Given the description of an element on the screen output the (x, y) to click on. 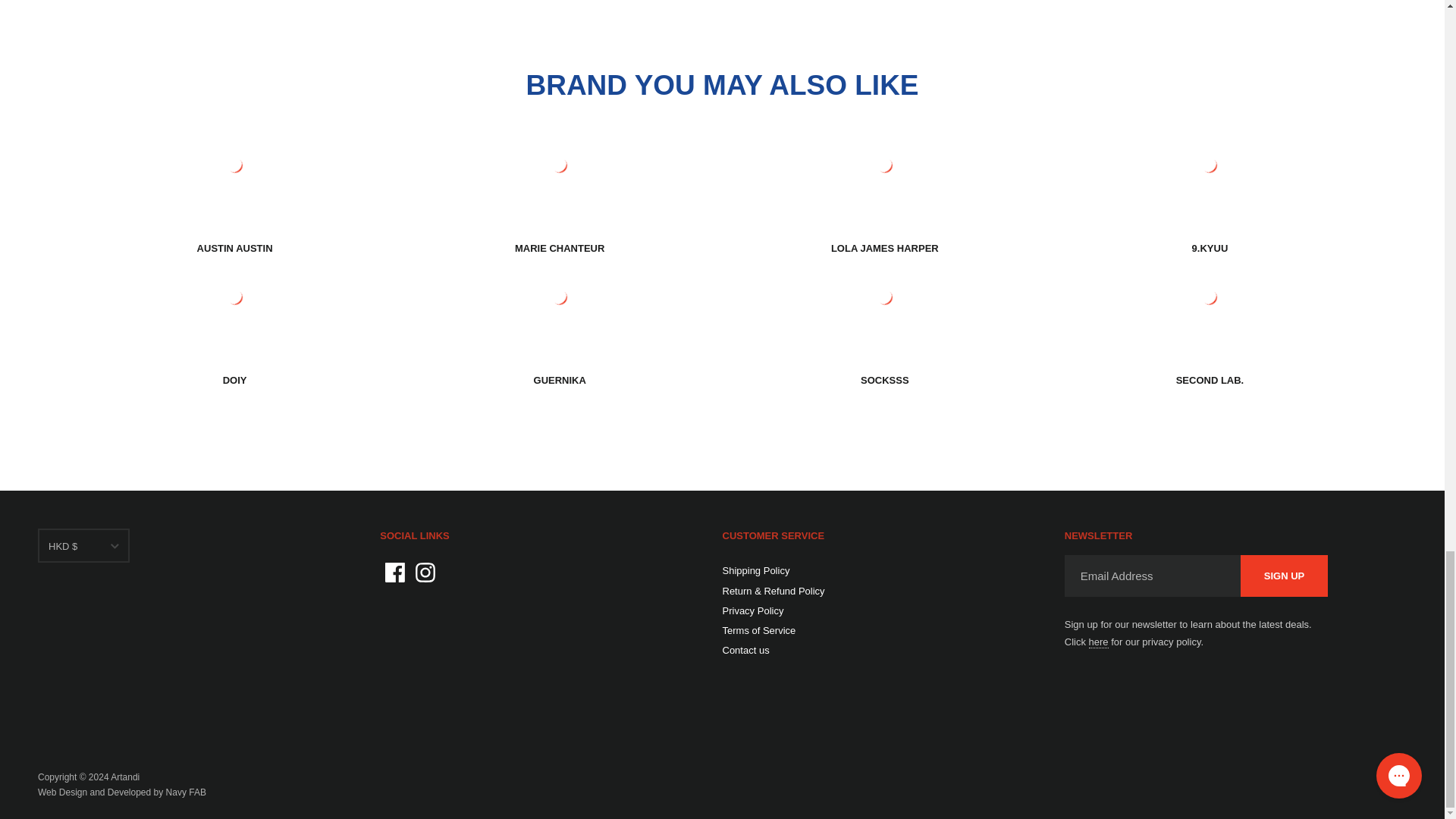
Sign up (1283, 576)
